Given the description of an element on the screen output the (x, y) to click on. 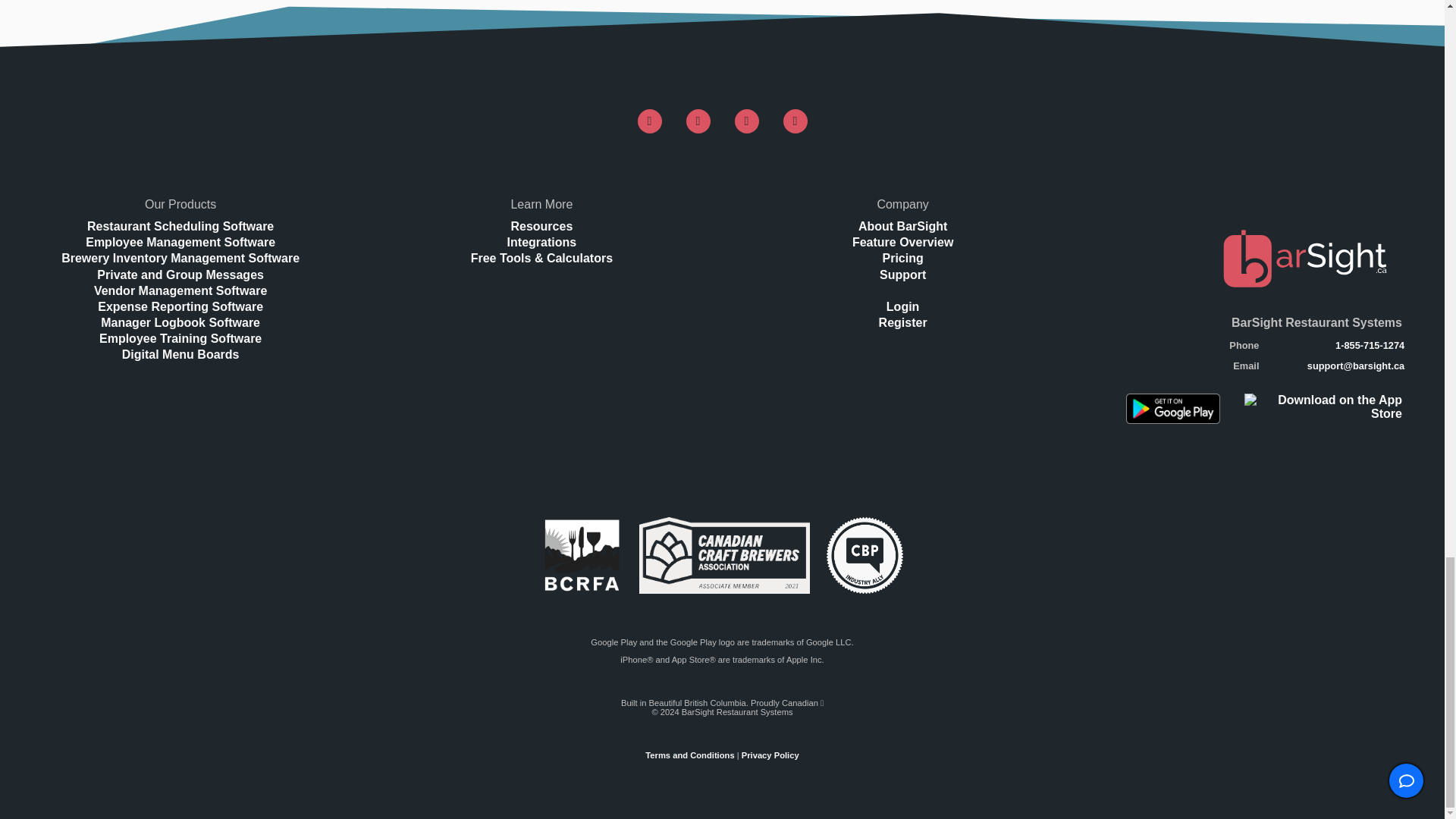
Member of Craft Beer Professionals (864, 554)
Member of BC Restaurant and Food Services Association (582, 554)
Member of Canadian Craft Brewers Association (724, 554)
